Given the description of an element on the screen output the (x, y) to click on. 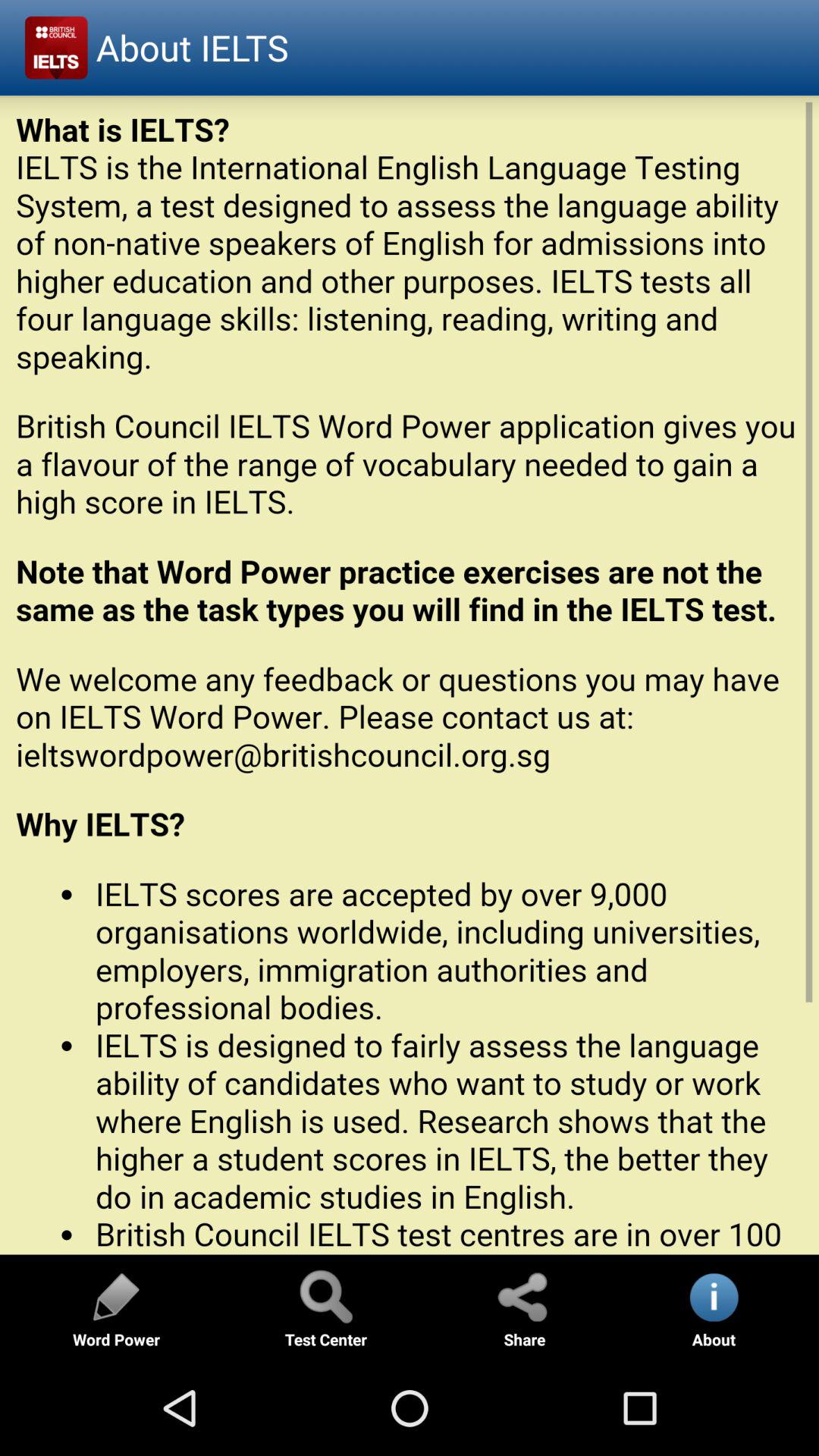
search (325, 1296)
